Given the description of an element on the screen output the (x, y) to click on. 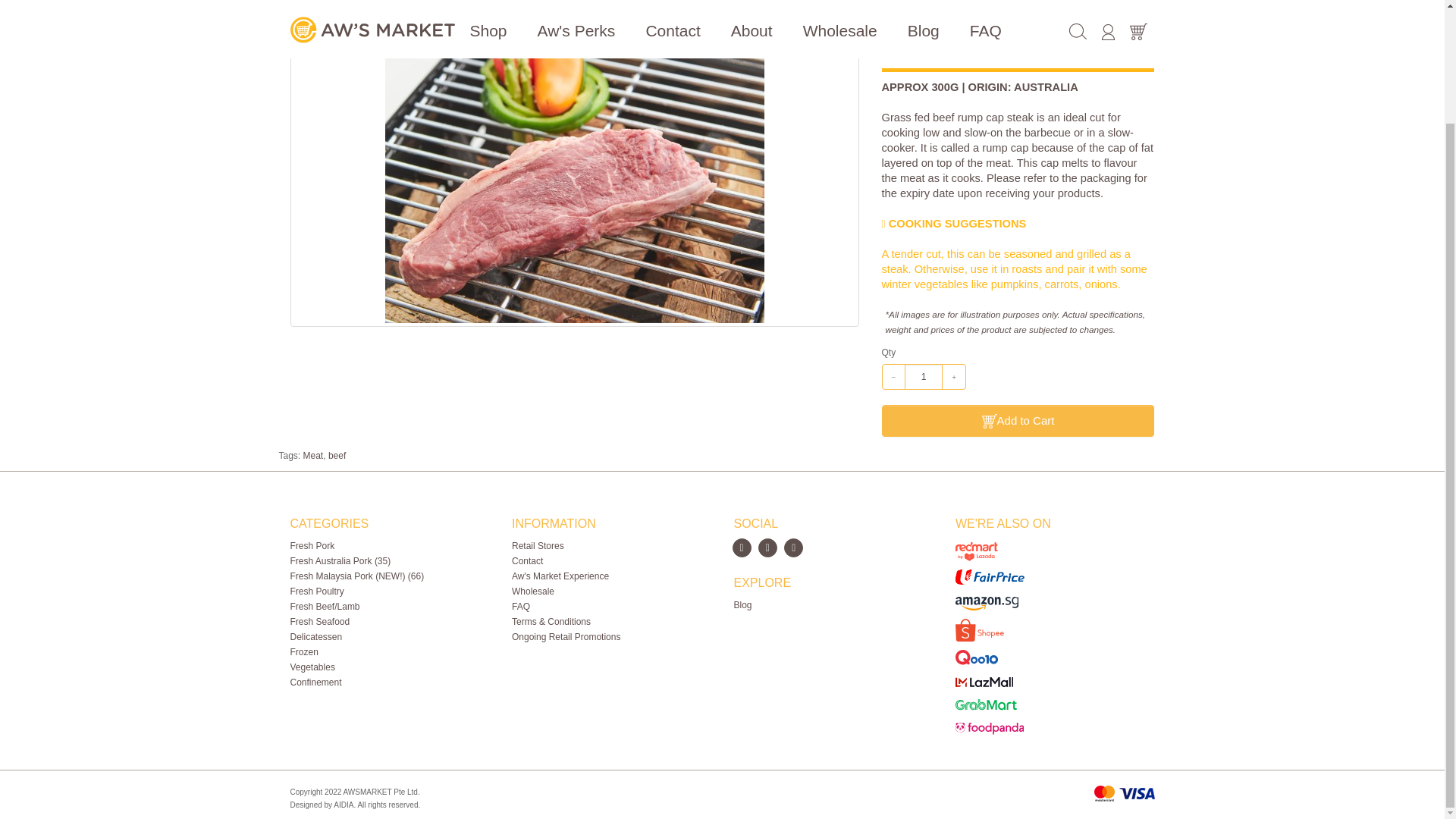
Meat (312, 455)
1 (923, 376)
Add to Cart (1017, 420)
